Given the description of an element on the screen output the (x, y) to click on. 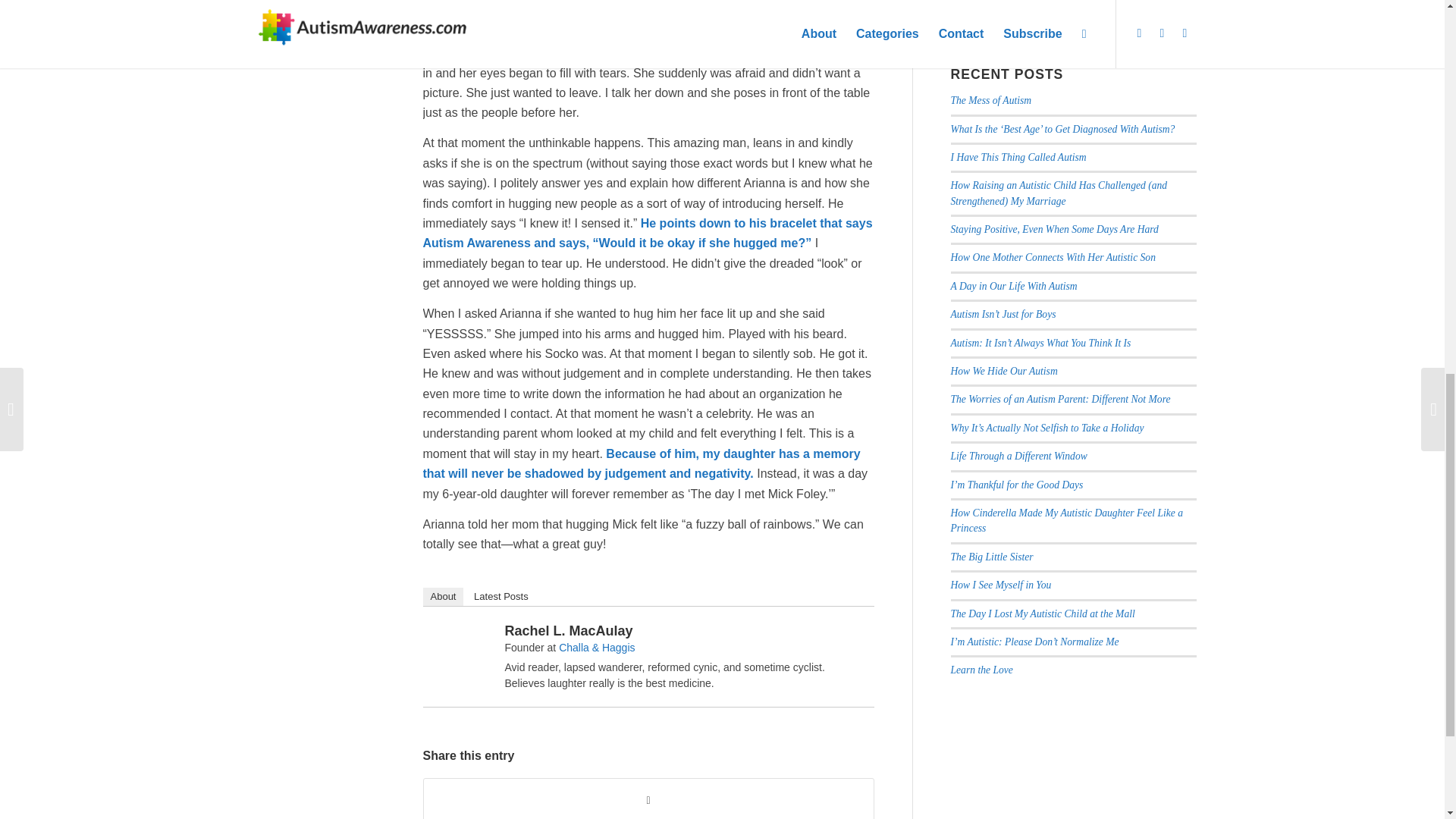
LinkedIn (854, 633)
Rachel L. MacAulay (462, 638)
Twitter (835, 633)
Rachel L. MacAulay (569, 630)
Latest Posts (500, 597)
About (443, 597)
The Mess of Autism (991, 100)
